Given the description of an element on the screen output the (x, y) to click on. 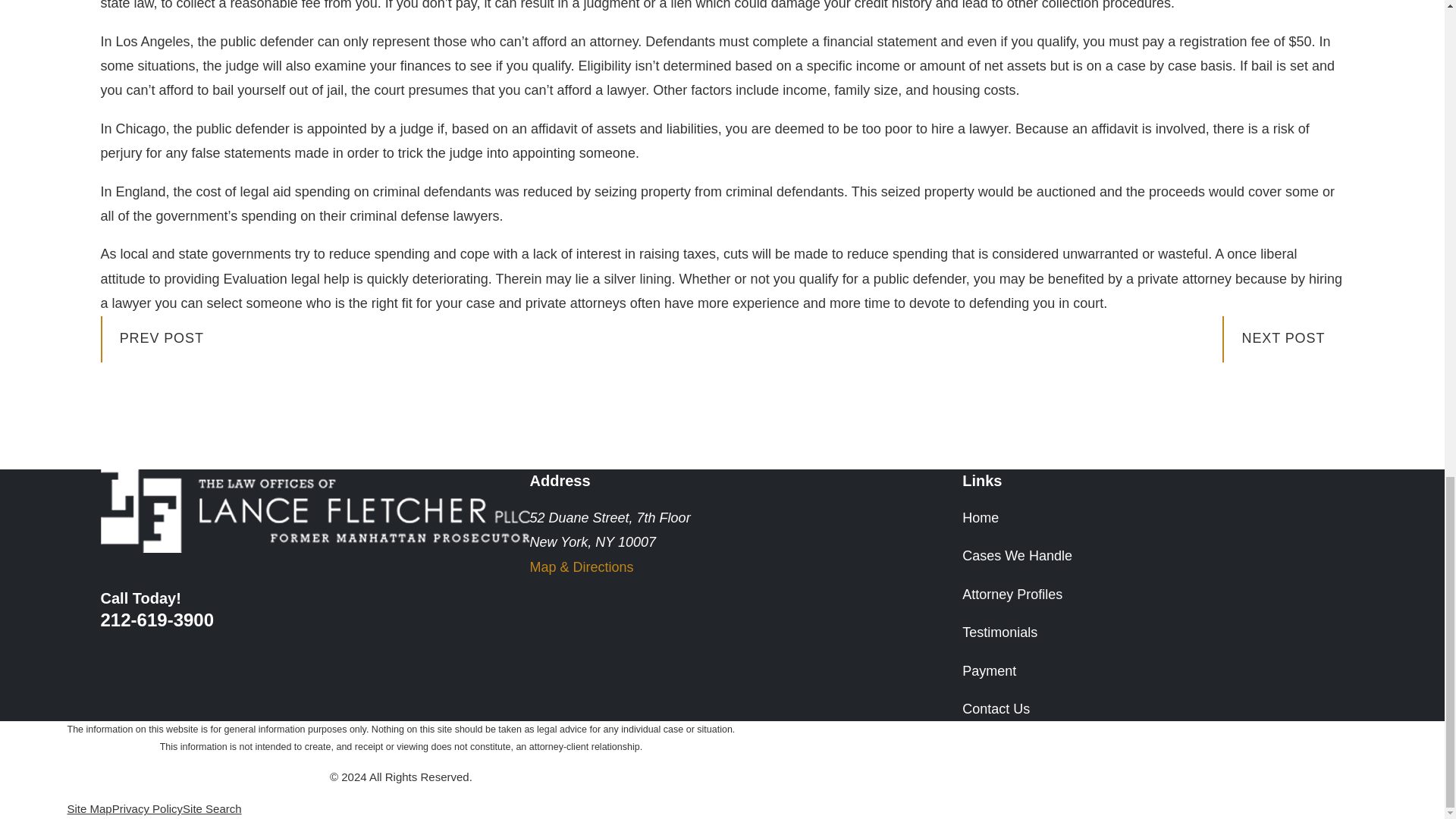
Home (314, 510)
